Given the description of an element on the screen output the (x, y) to click on. 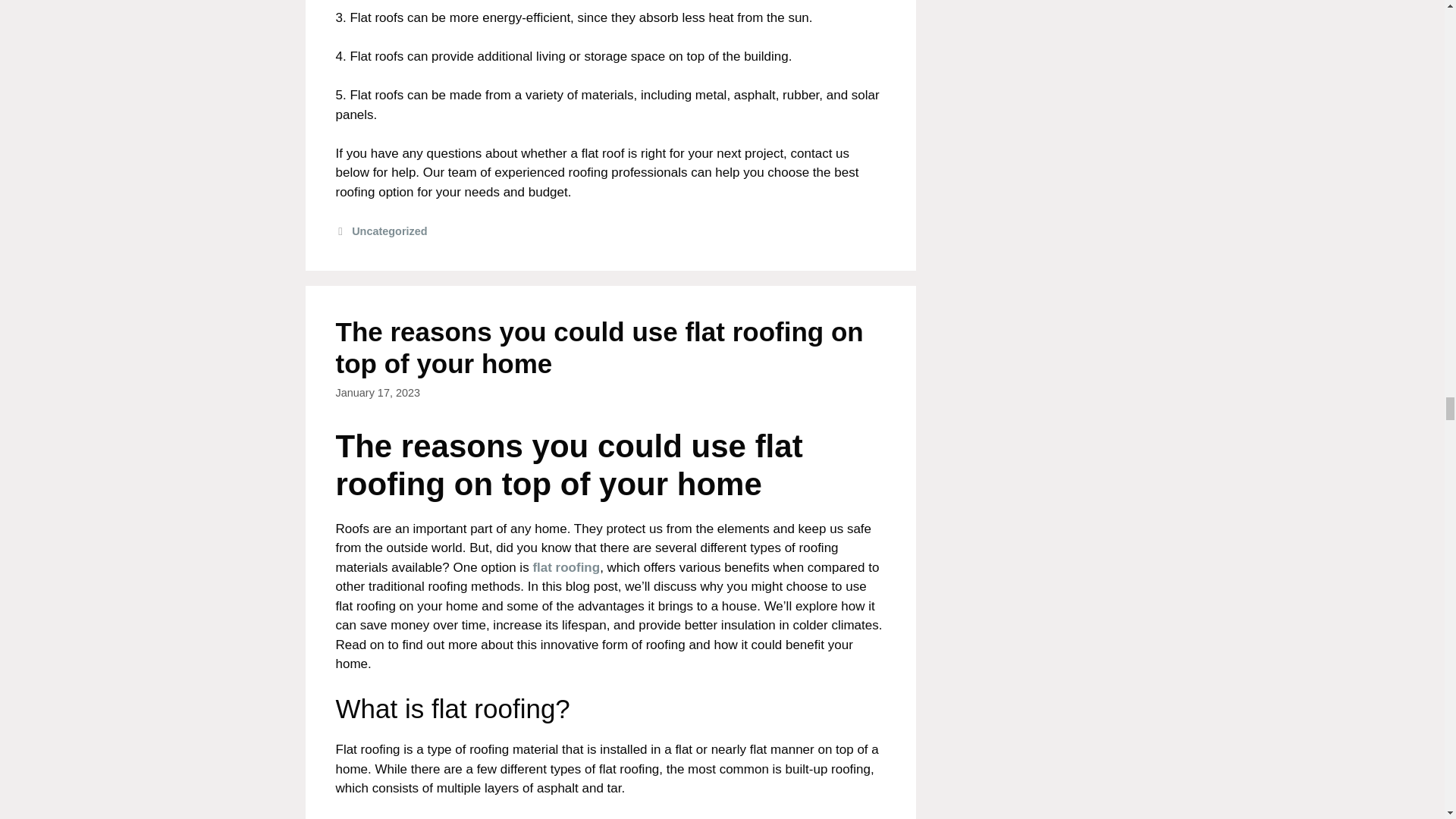
Uncategorized (389, 231)
The reasons you could use flat roofing on top of your home (598, 347)
flat roofing (565, 567)
